Given the description of an element on the screen output the (x, y) to click on. 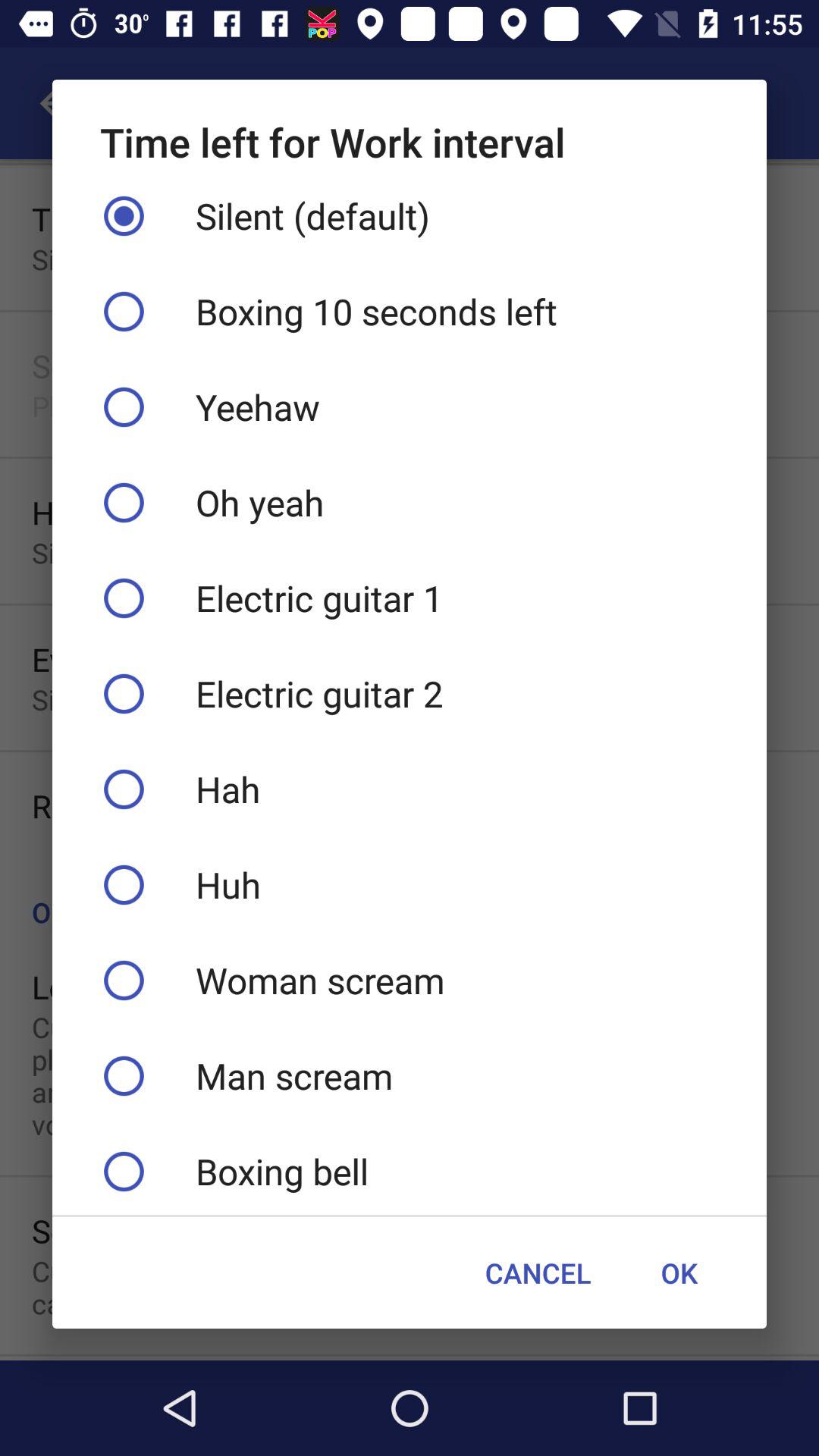
open the item next to the cancel item (678, 1272)
